Given the description of an element on the screen output the (x, y) to click on. 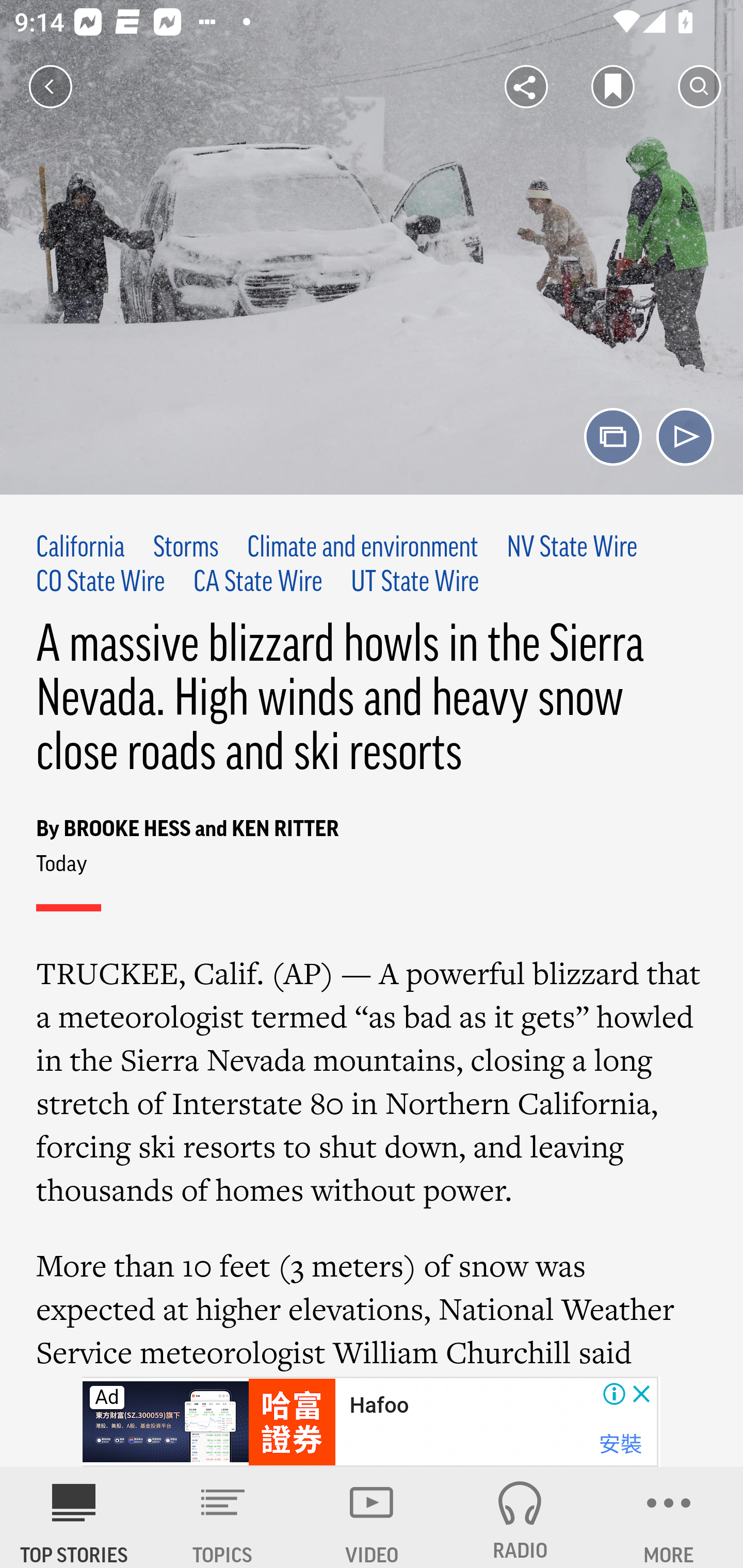
California (81, 548)
Storms (185, 548)
Climate and environment (361, 548)
NV State Wire (571, 548)
CO State Wire (101, 582)
CA State Wire (258, 582)
UT State Wire (415, 582)
Hafoo (378, 1405)
安裝 (620, 1444)
AP News TOP STORIES (74, 1517)
TOPICS (222, 1517)
VIDEO (371, 1517)
RADIO (519, 1517)
MORE (668, 1517)
